Given the description of an element on the screen output the (x, y) to click on. 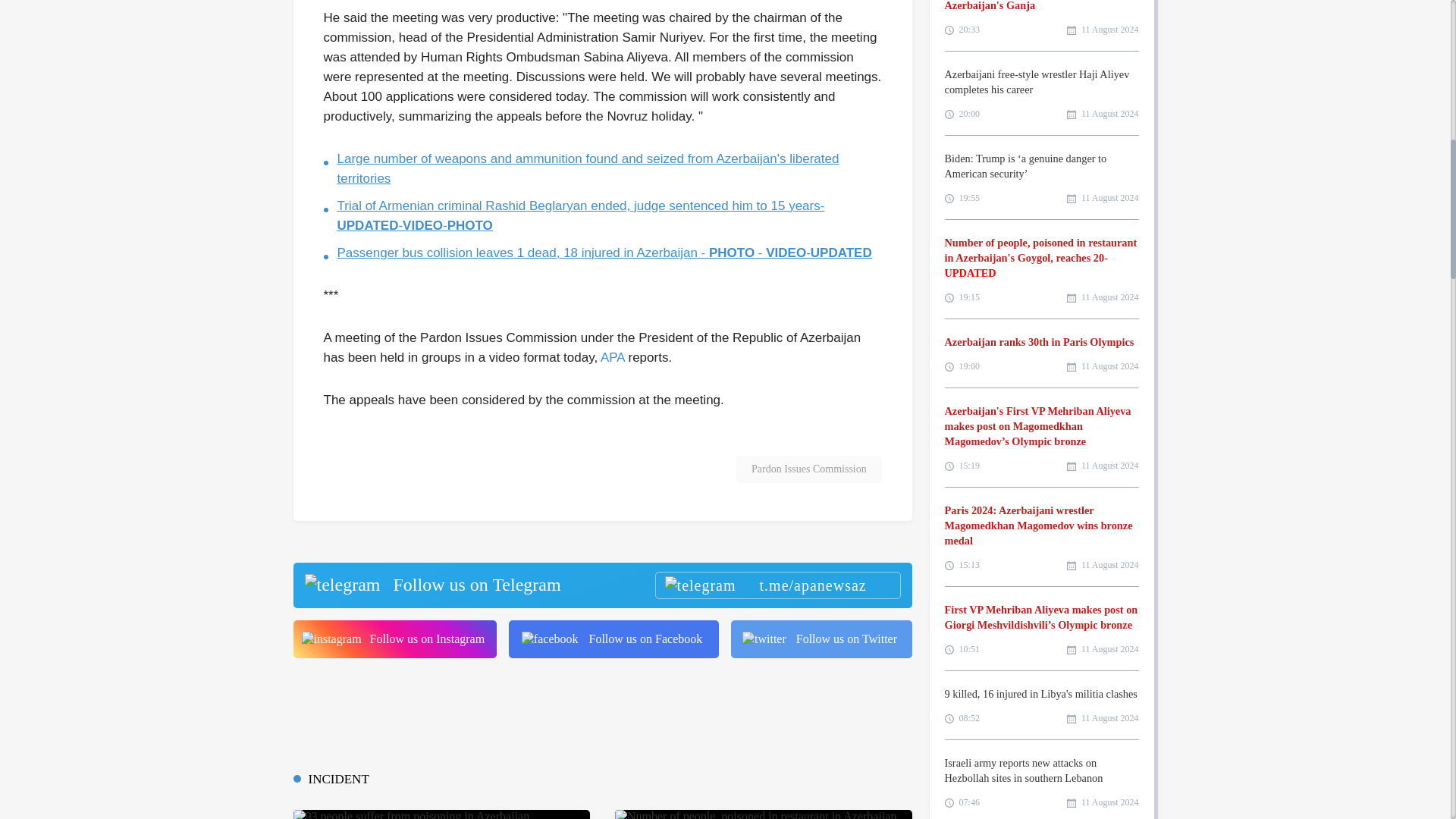
Follow us on Instagram (394, 638)
Follow us on Telegram (601, 585)
Follow us on Twitter (821, 638)
Follow us on Facebook (613, 638)
